Given the description of an element on the screen output the (x, y) to click on. 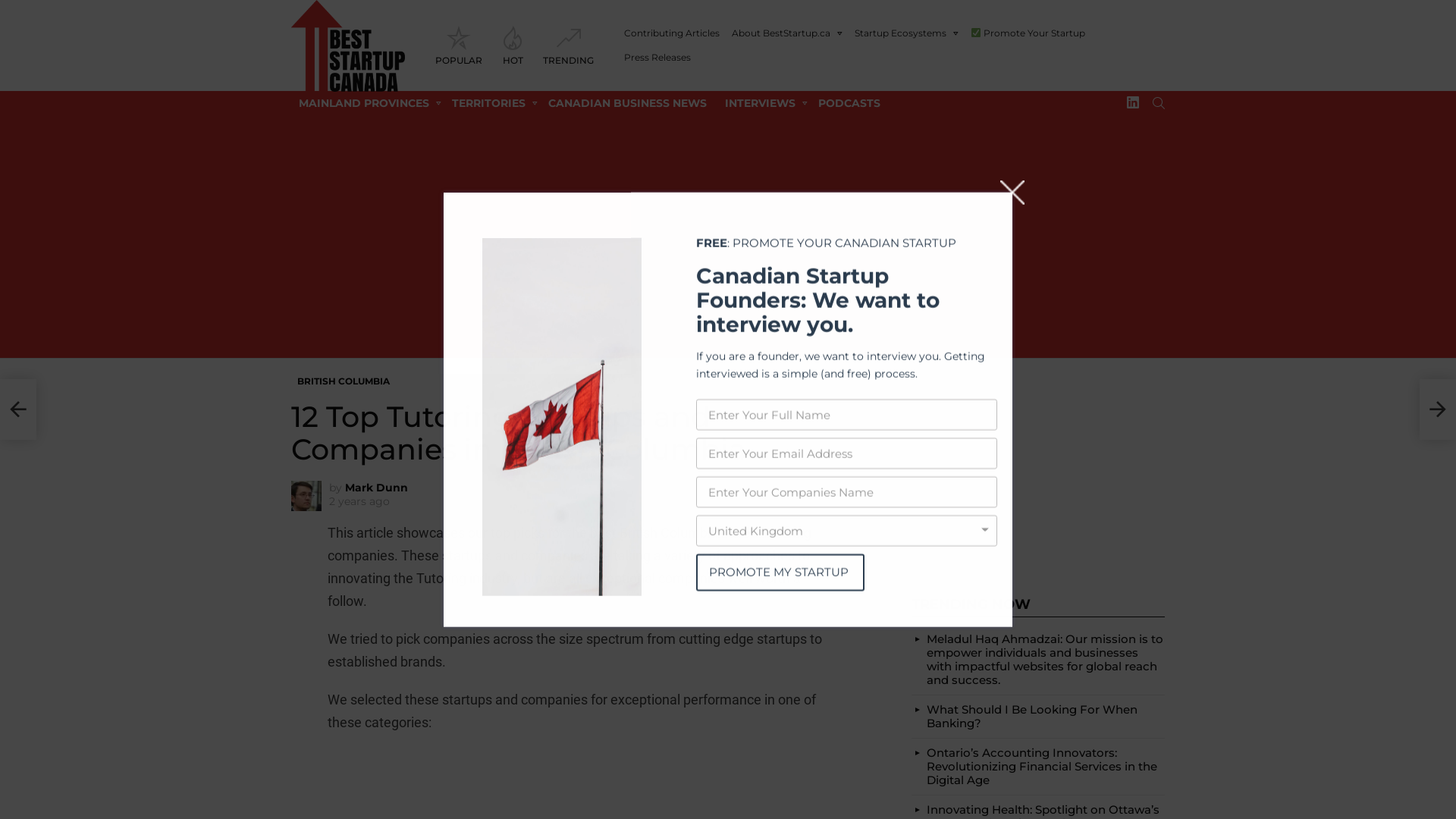
HOT Element type: text (512, 45)
POPULAR Element type: text (458, 45)
INTERVIEWS Element type: text (762, 102)
Contributing Articles Element type: text (671, 33)
TERRITORIES Element type: text (490, 102)
PODCASTS Element type: text (849, 102)
CANADIAN BUSINESS NEWS Element type: text (627, 102)
BRITISH COLUMBIA Element type: text (343, 381)
Mark Dunn Element type: text (376, 487)
TRENDING Element type: text (568, 45)
What Should I Be Looking For When Banking? Element type: text (1031, 716)
MAINLAND PROVINCES Element type: text (366, 102)
Promote Your Startup Element type: text (1027, 33)
Press Releases Element type: text (657, 57)
Advertisement Element type: hover (1037, 468)
SEARCH Element type: text (1158, 103)
linkedin Element type: text (1132, 103)
About BestStartup.ca Element type: text (786, 33)
Advertisement Element type: hover (727, 236)
Startup Ecosystems Element type: text (906, 33)
